Given the description of an element on the screen output the (x, y) to click on. 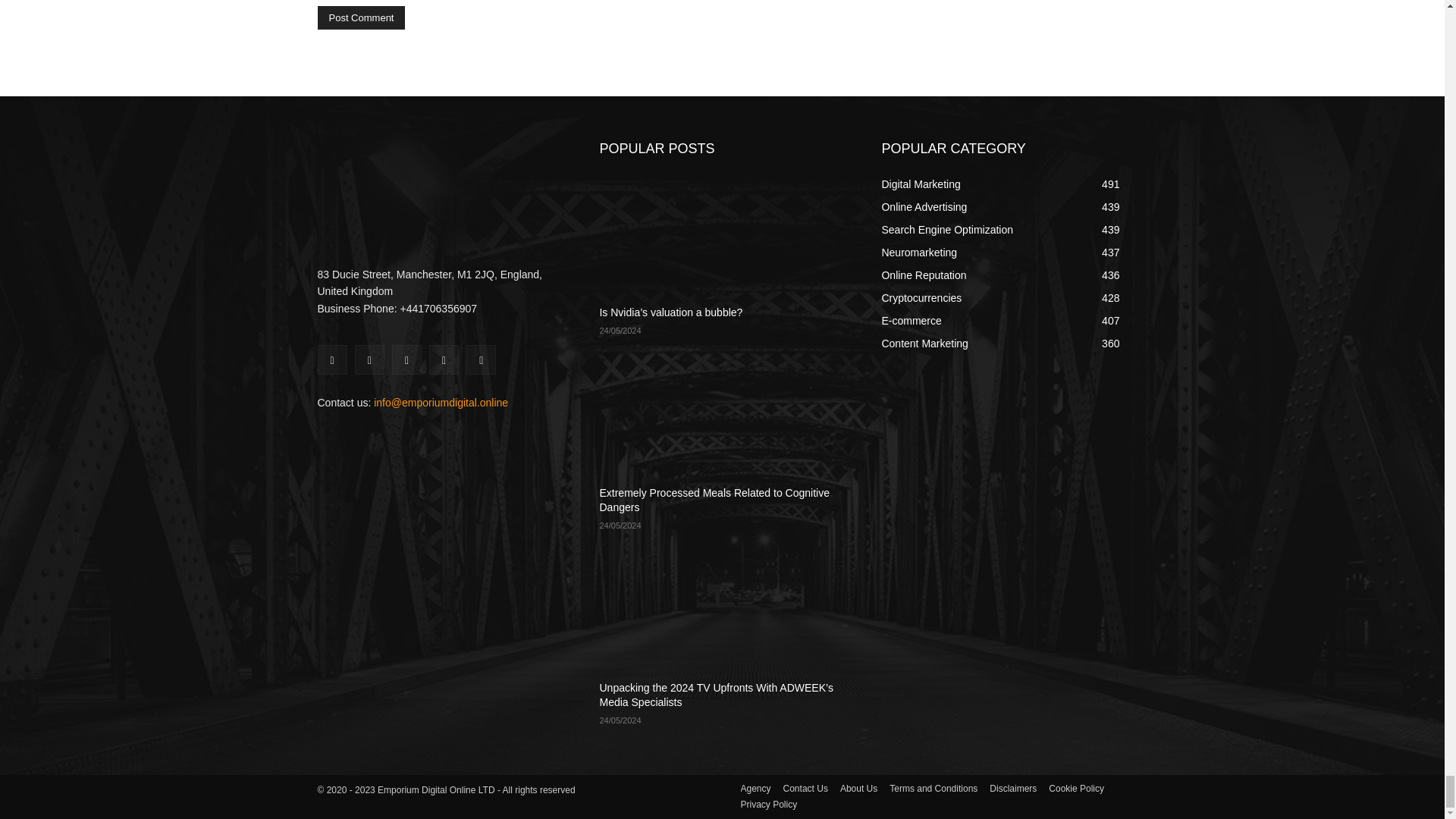
Post Comment (360, 17)
